Given the description of an element on the screen output the (x, y) to click on. 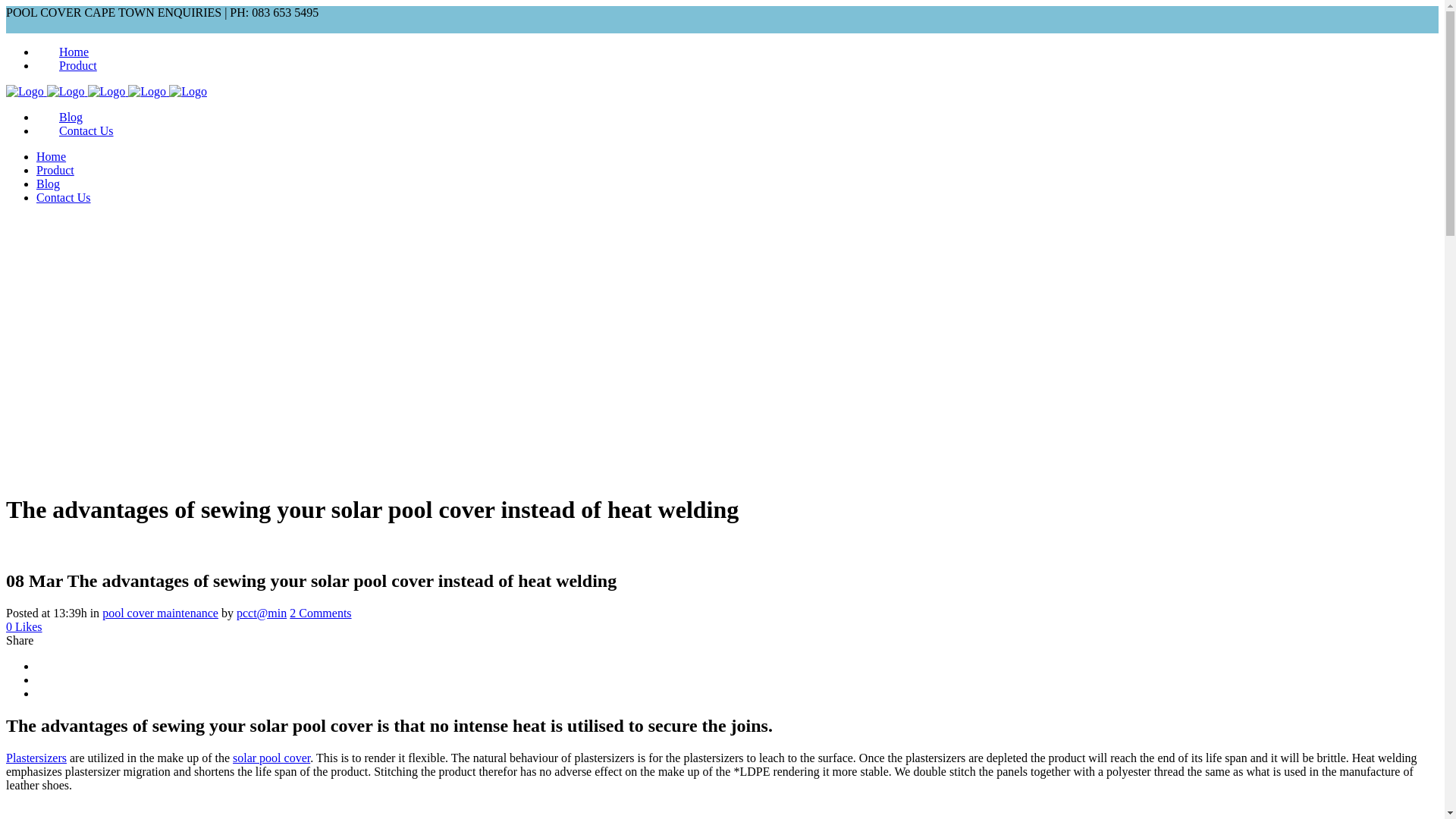
Product (55, 169)
Like this (23, 626)
Home (74, 51)
Product (77, 65)
solar pool cover (271, 757)
Blog (70, 116)
Blog (47, 183)
Contact Us (63, 196)
2 Comments (319, 612)
Contact Us (86, 130)
Home (50, 155)
Plastersizers (35, 757)
Share (19, 640)
0 Likes (23, 626)
pool cover maintenance (159, 612)
